Given the description of an element on the screen output the (x, y) to click on. 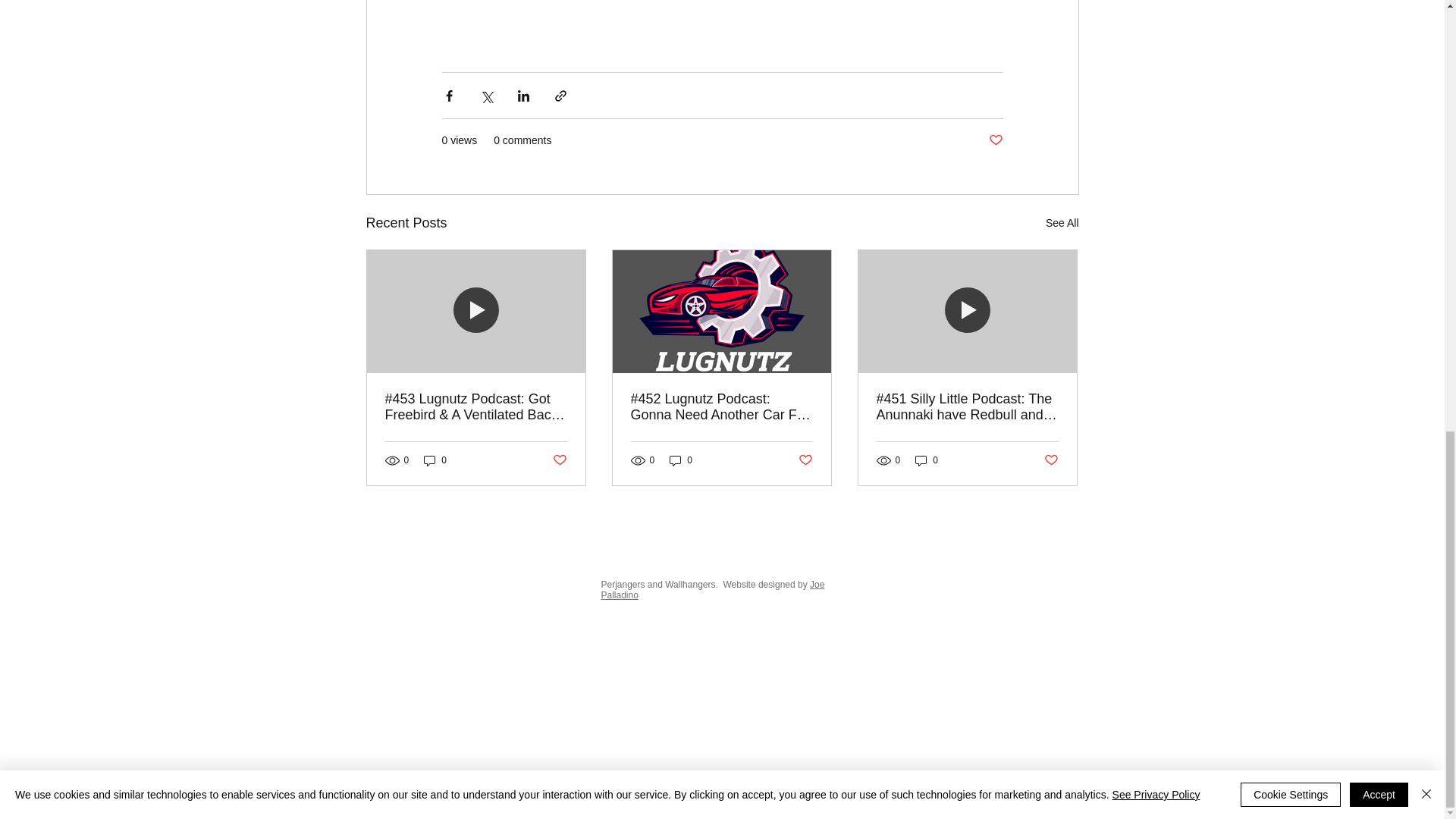
0 (435, 460)
See All (1061, 223)
0 (681, 460)
0 (926, 460)
Post not marked as liked (995, 140)
Post not marked as liked (1050, 460)
Post not marked as liked (558, 460)
Joe Palladino (711, 589)
Post not marked as liked (804, 460)
